Given the description of an element on the screen output the (x, y) to click on. 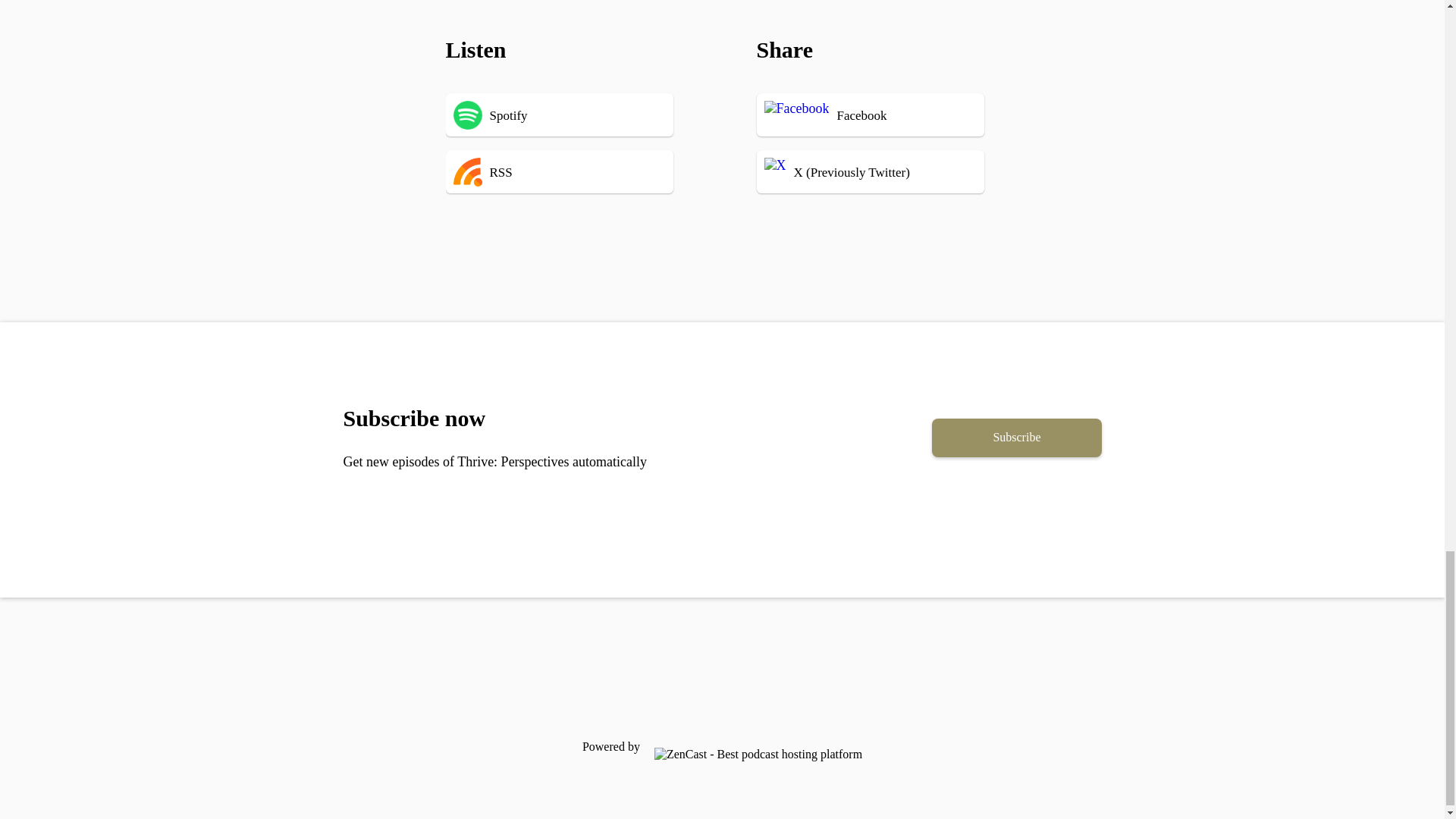
Facebook (877, 114)
Subscribe (1015, 437)
Powered by (721, 746)
RSS (582, 171)
Spotify (582, 114)
